Given the description of an element on the screen output the (x, y) to click on. 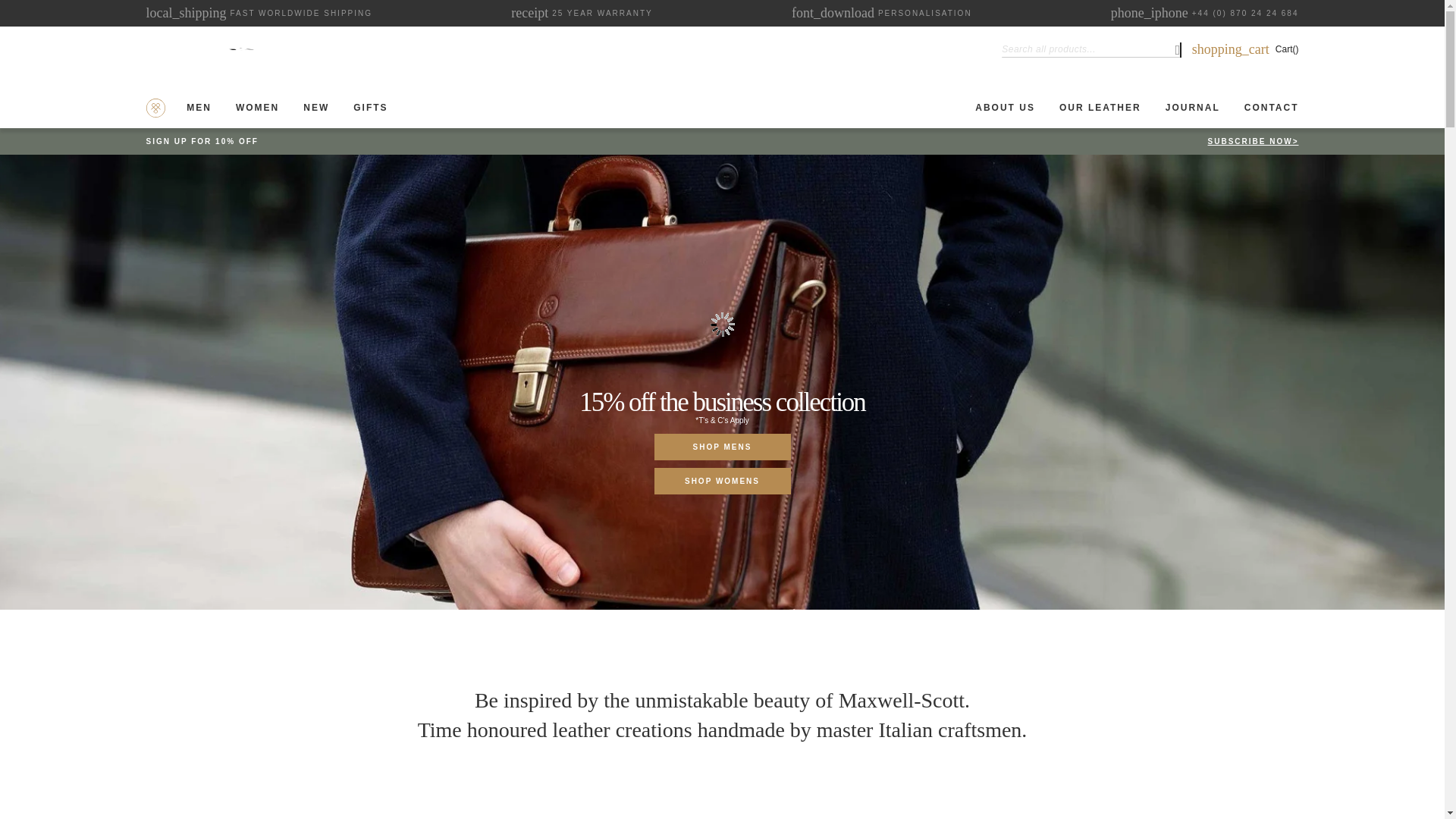
Maxwell Scott Bags (531, 14)
MEN (239, 49)
Maxwell Scott Bags (202, 107)
